Given the description of an element on the screen output the (x, y) to click on. 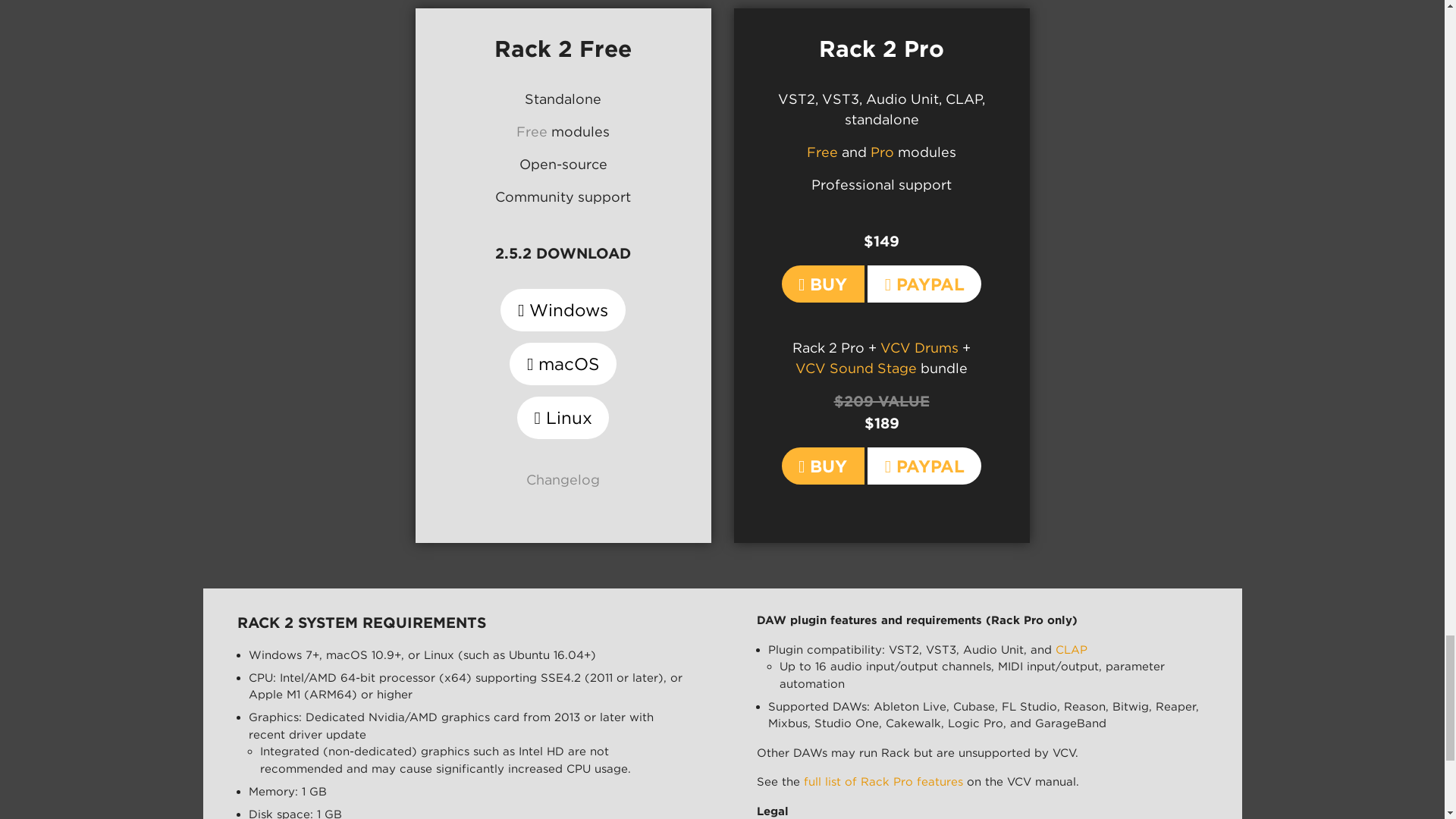
macOS (562, 363)
BUY (822, 466)
CLAP (1071, 649)
Linux (562, 417)
Windows (562, 309)
full list of Rack Pro features (882, 781)
VCV Sound Stage (855, 367)
PAYPAL (924, 466)
Free (822, 151)
VCV Drums (919, 347)
